Given the description of an element on the screen output the (x, y) to click on. 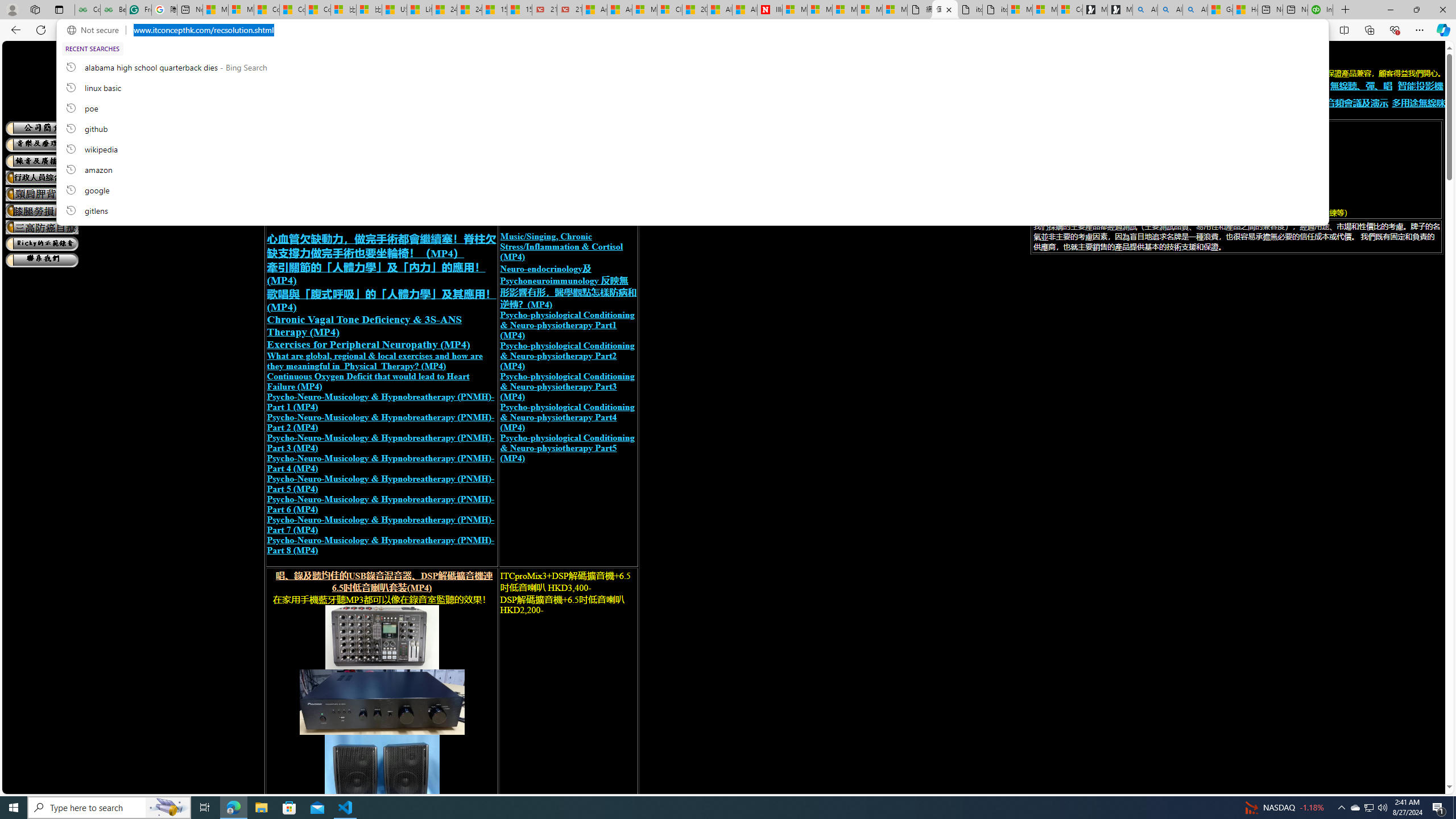
Free AI Writing Assistance for Students | Grammarly (137, 9)
USA TODAY - MSN (394, 9)
Illness news & latest pictures from Newsweek.com (769, 9)
